Given the description of an element on the screen output the (x, y) to click on. 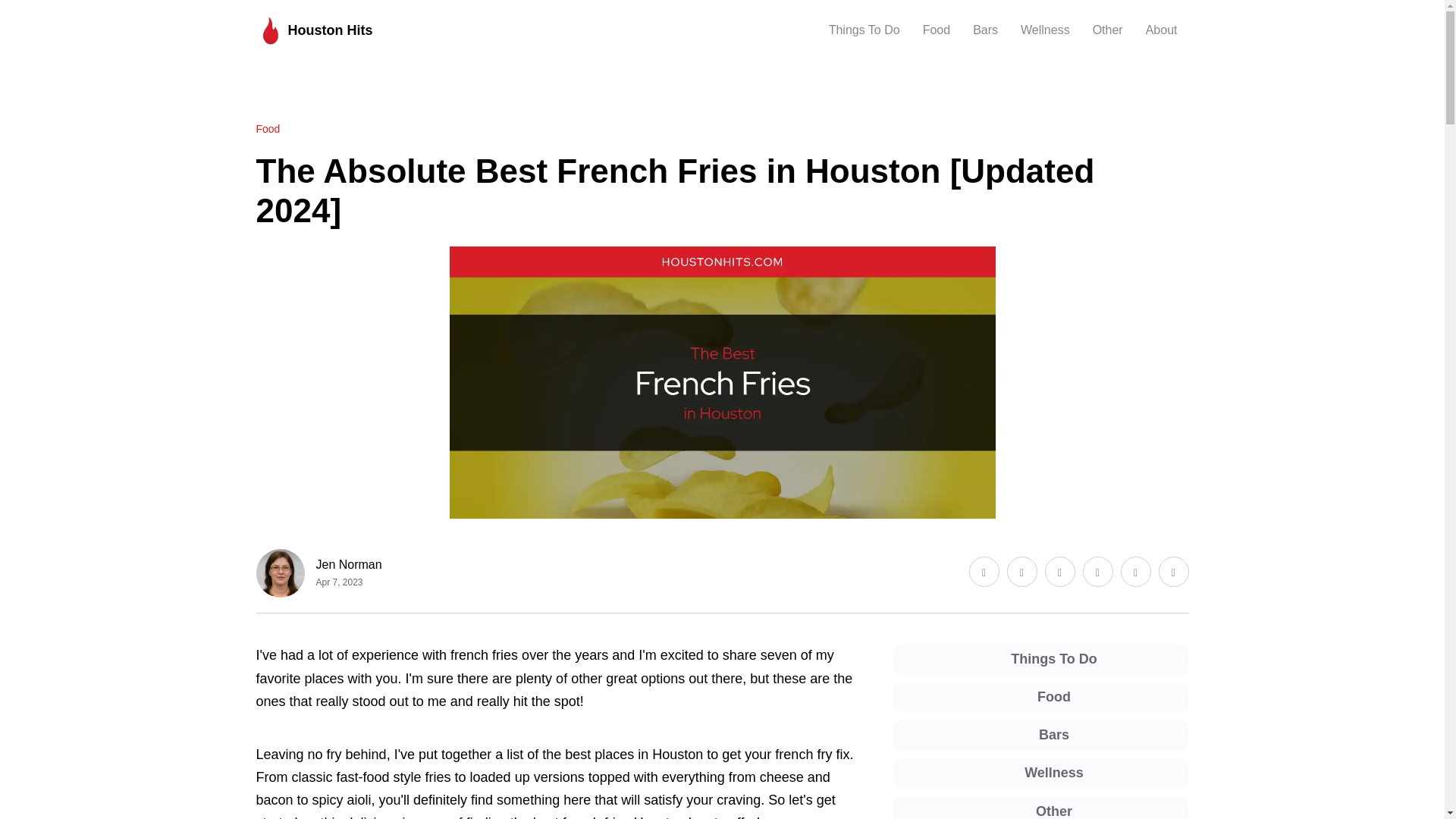
Food (268, 128)
Things To Do (863, 30)
Houston Hits (314, 30)
Jen Norman (348, 564)
